Given the description of an element on the screen output the (x, y) to click on. 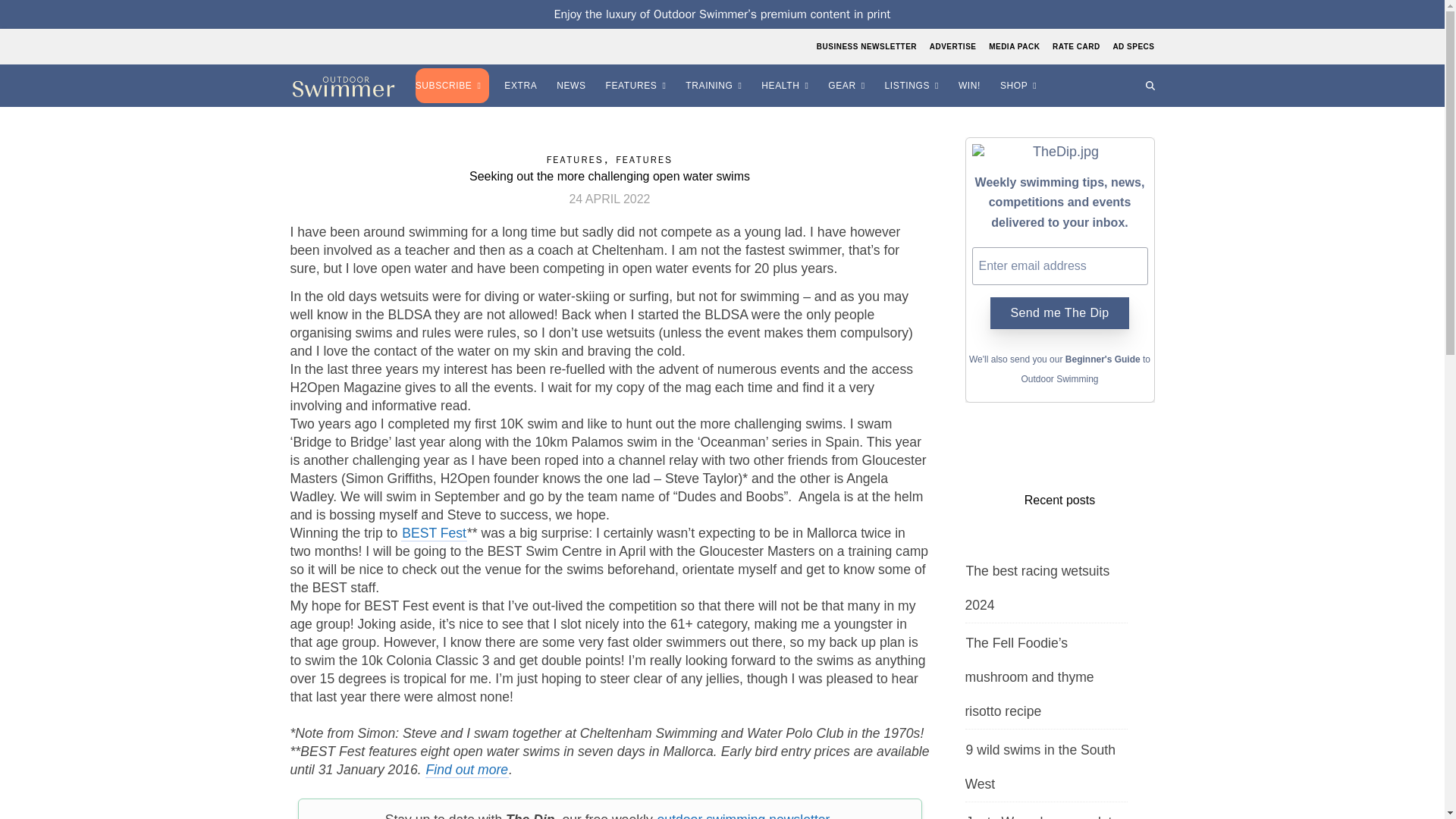
BUSINESS NEWSLETTER (868, 46)
AD SPECS (1131, 46)
ADVERTISE (952, 46)
TRAINING (716, 85)
Enter email address (1060, 266)
SUBSCRIBE (453, 85)
Send me The Dip (1059, 313)
FEATURES (638, 85)
NEWS (572, 85)
EXTRA (522, 85)
